Given the description of an element on the screen output the (x, y) to click on. 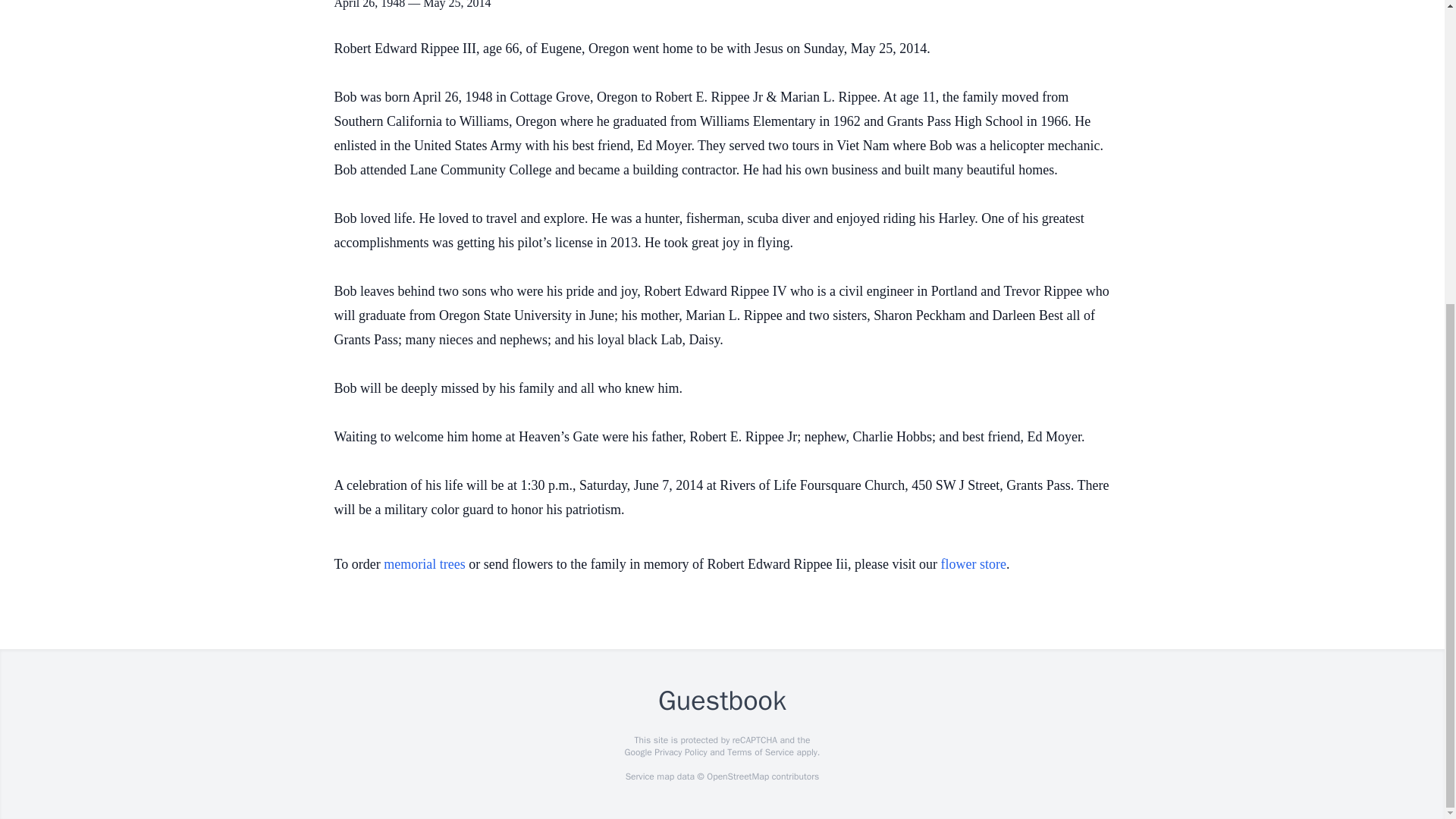
flower store (973, 563)
Privacy Policy (679, 752)
memorial trees (424, 563)
OpenStreetMap (737, 776)
Terms of Service (759, 752)
